Given the description of an element on the screen output the (x, y) to click on. 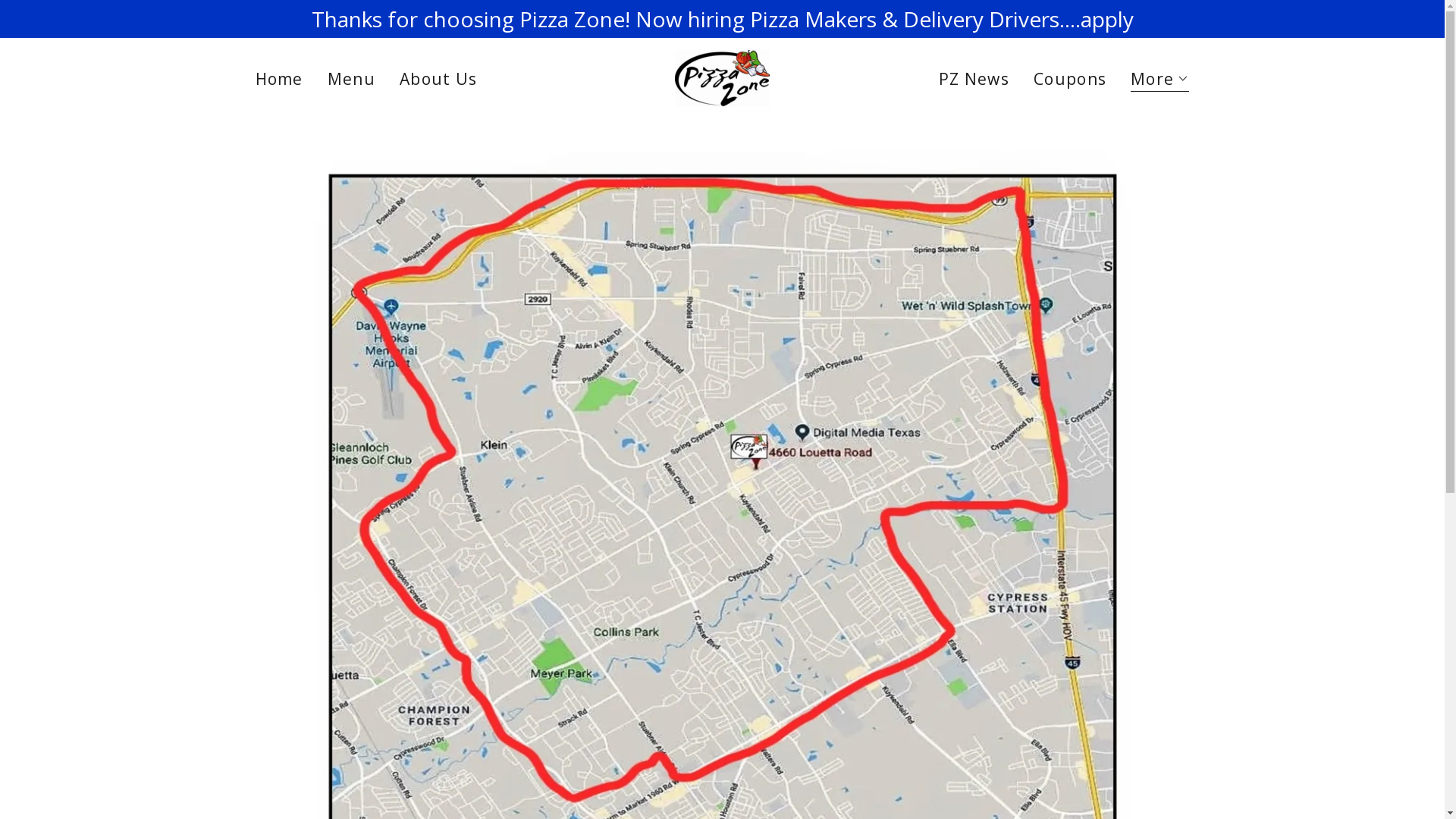
Coupons Element type: text (1069, 78)
Home Element type: text (278, 78)
PZ News Element type: text (973, 78)
About Us Element type: text (438, 78)
Pizza Zone Element type: hover (721, 76)
More Element type: text (1159, 80)
Menu Element type: text (351, 78)
